Given the description of an element on the screen output the (x, y) to click on. 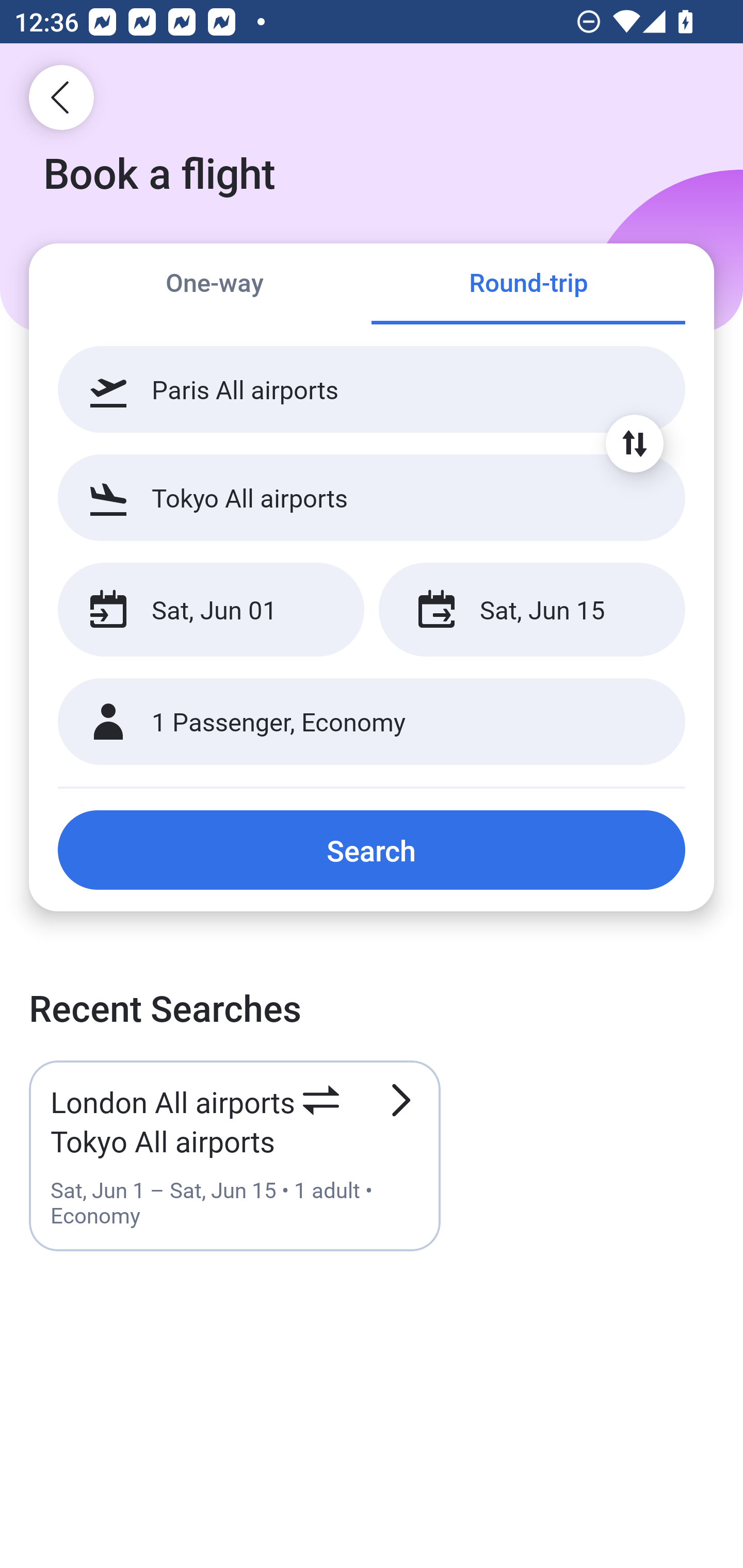
One-way (214, 284)
Paris All airports (371, 389)
Tokyo All airports (371, 497)
Sat, Jun 01 (210, 609)
Sat, Jun 15 (531, 609)
1 Passenger, Economy (371, 721)
Search (371, 849)
